Given the description of an element on the screen output the (x, y) to click on. 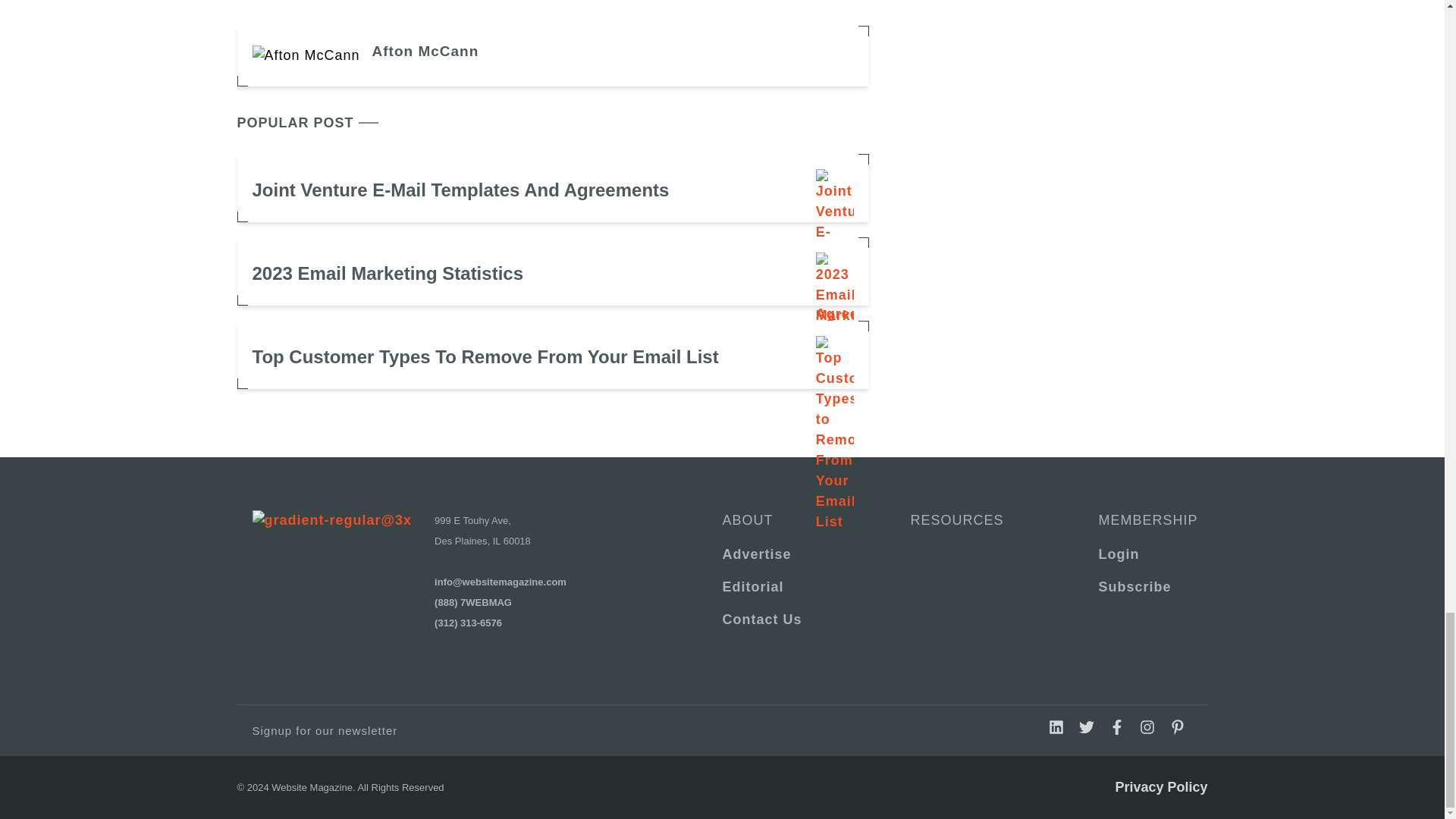
Afton McCann (425, 50)
Joint Venture E-Mail Templates And Agreements (551, 187)
